Given the description of an element on the screen output the (x, y) to click on. 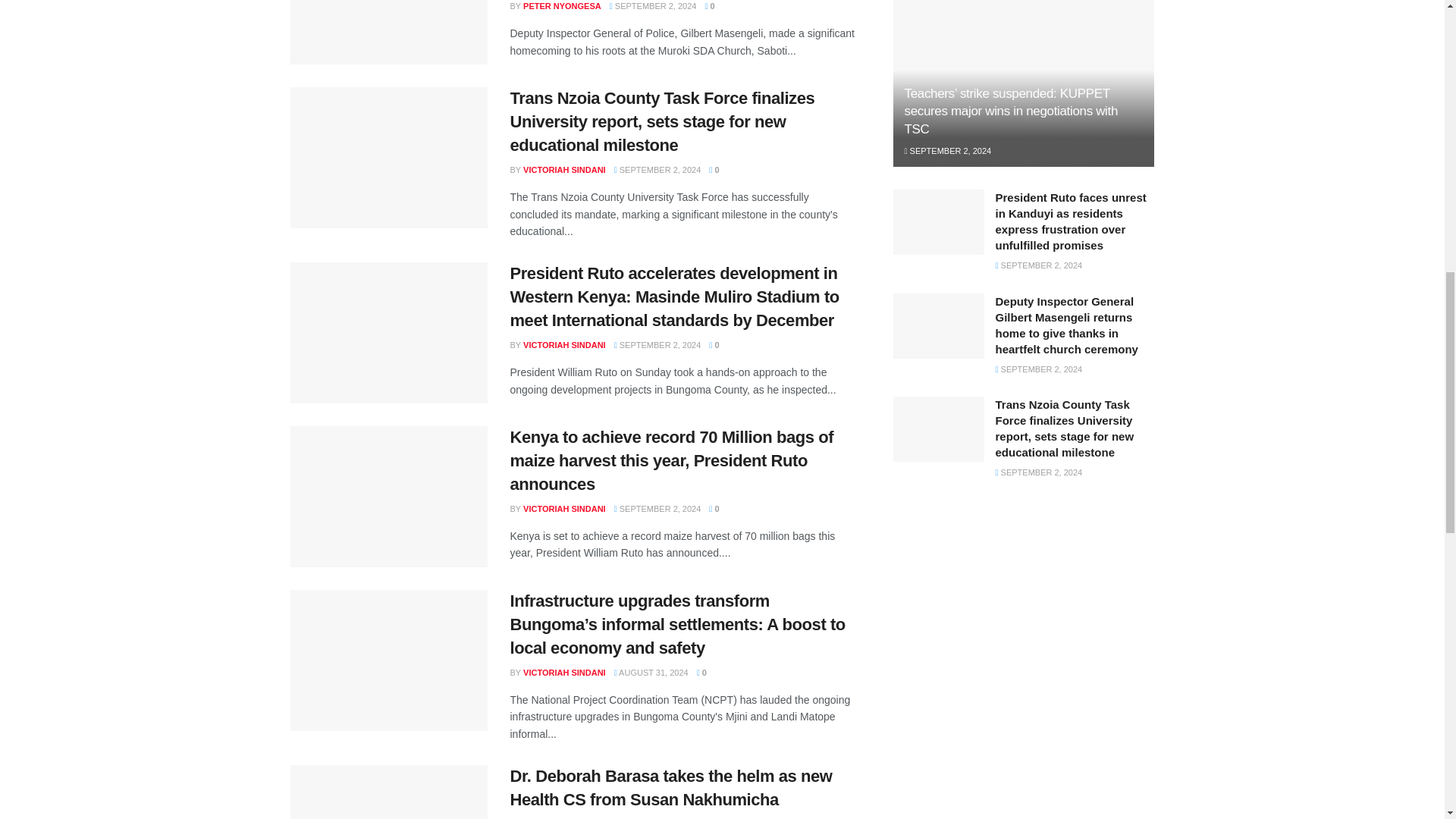
PETER NYONGESA (561, 5)
0 (709, 5)
SEPTEMBER 2, 2024 (653, 5)
